Given the description of an element on the screen output the (x, y) to click on. 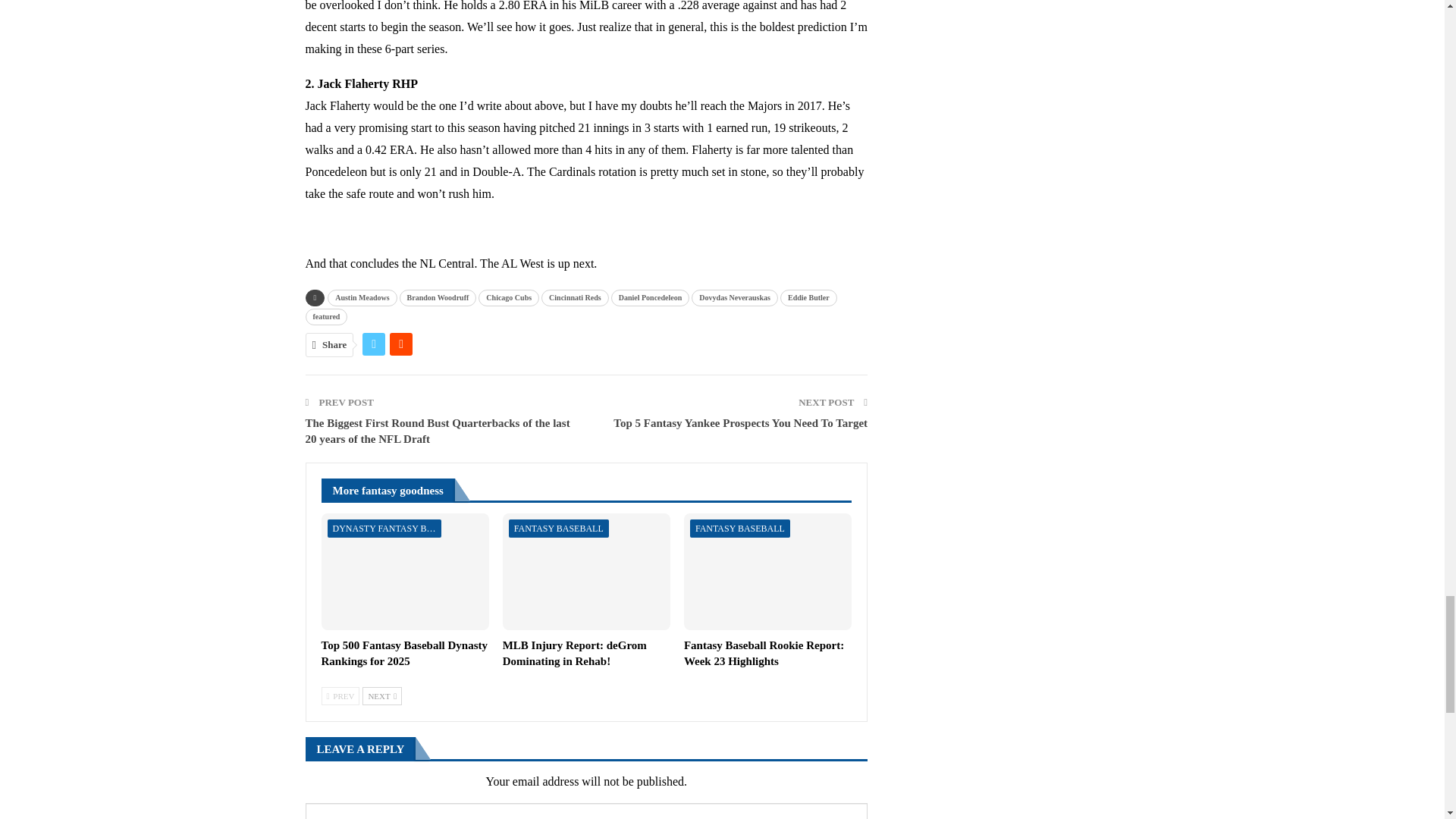
MLB Injury Report: deGrom Dominating in Rehab! (585, 571)
MLB Injury Report: deGrom Dominating in Rehab! (574, 653)
Top 500 Fantasy Baseball Dynasty Rankings for 2025 (405, 571)
Fantasy Baseball Rookie Report: Week 23 Highlights (767, 571)
Top 500 Fantasy Baseball Dynasty Rankings for 2025 (404, 653)
